Given the description of an element on the screen output the (x, y) to click on. 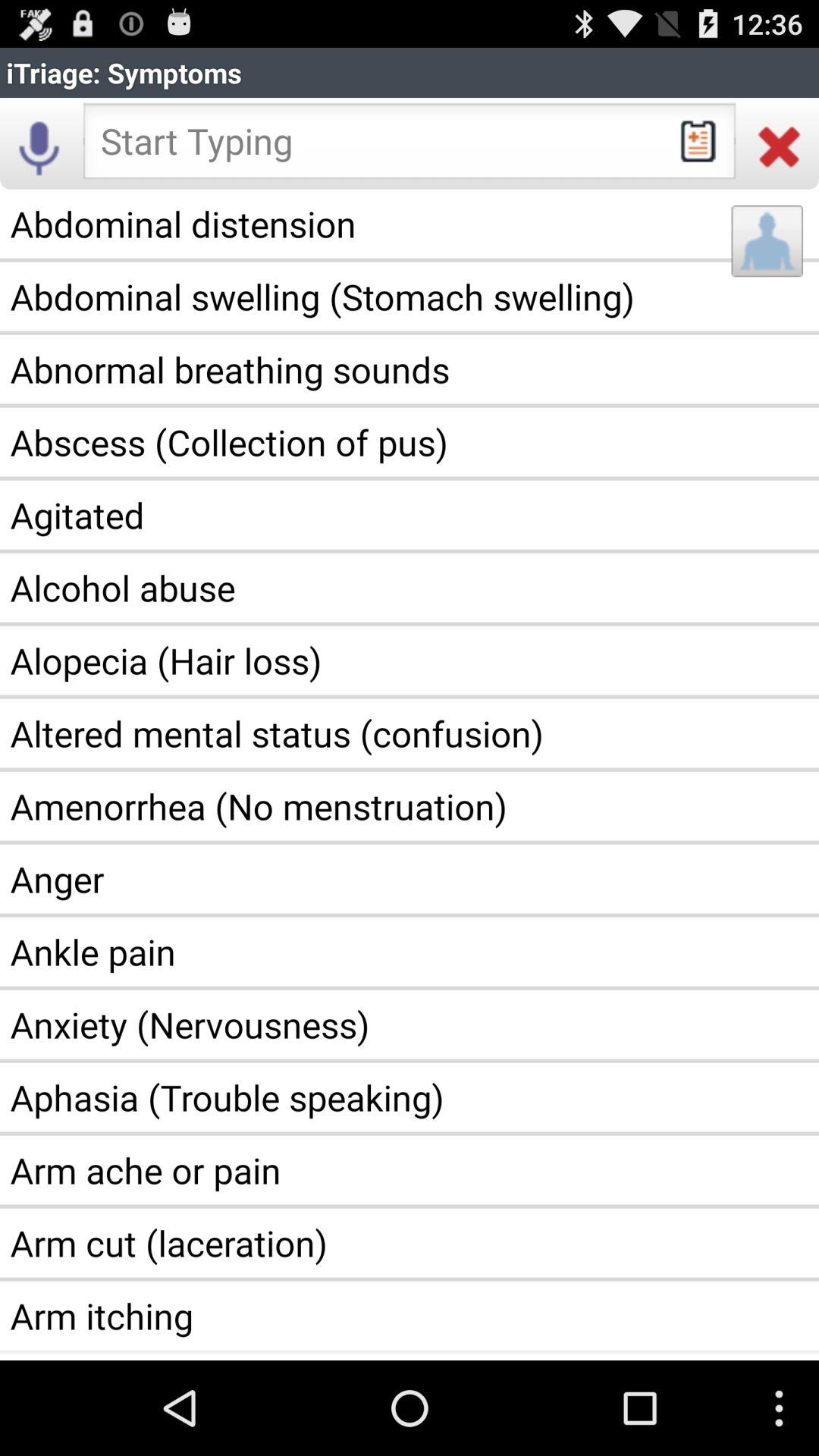
search bar (409, 145)
